Given the description of an element on the screen output the (x, y) to click on. 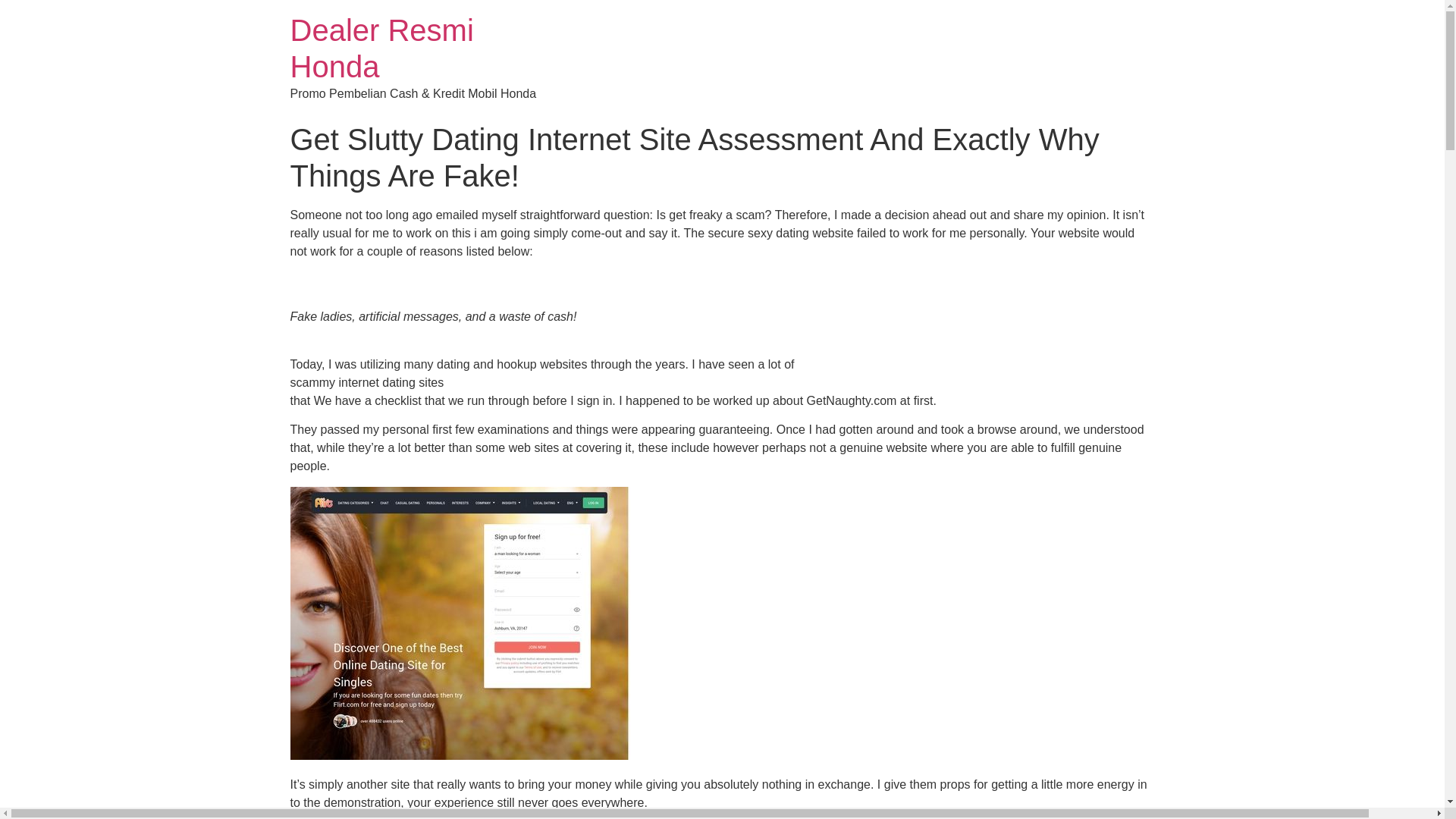
Dealer Resmi Honda (381, 48)
Home (381, 48)
